Given the description of an element on the screen output the (x, y) to click on. 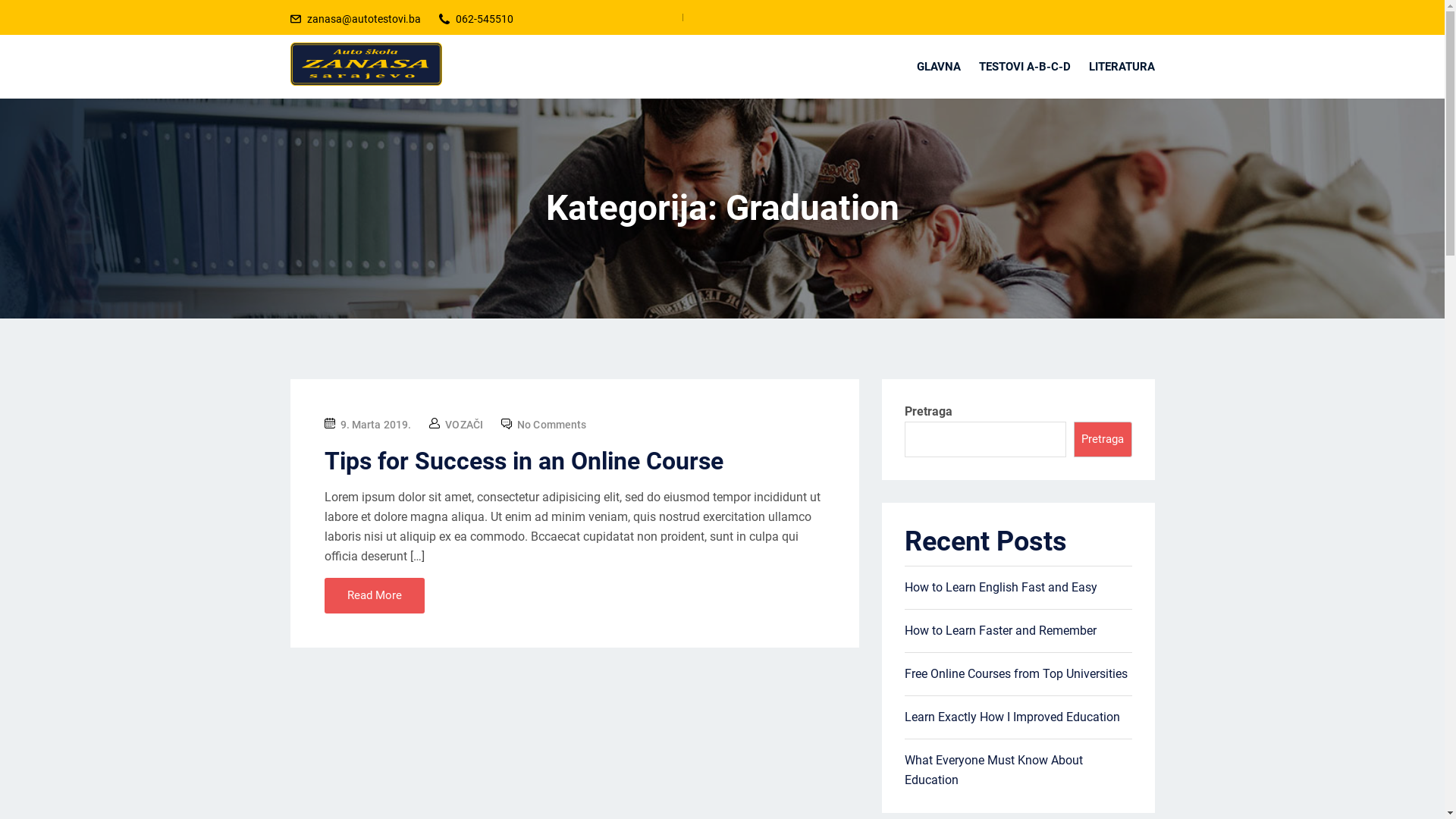
TESTOVI A-B-C-D Element type: text (1023, 66)
zanasa@autotestovi.ba Element type: text (363, 18)
How to Learn English Fast and Easy Element type: text (999, 587)
Read More Element type: text (374, 595)
Learn Exactly How I Improved Education Element type: text (1011, 716)
Pretraga Element type: text (1102, 439)
GLAVNA Element type: text (937, 66)
What Everyone Must Know About Education Element type: text (992, 770)
How to Learn Faster and Remember Element type: text (999, 630)
LITERATURA Element type: text (1117, 66)
Tips for Success in an Online Course Element type: text (523, 460)
No Comments Element type: text (551, 424)
Free Online Courses from Top Universities Element type: text (1014, 673)
9. Marta 2019. Element type: text (375, 424)
